Given the description of an element on the screen output the (x, y) to click on. 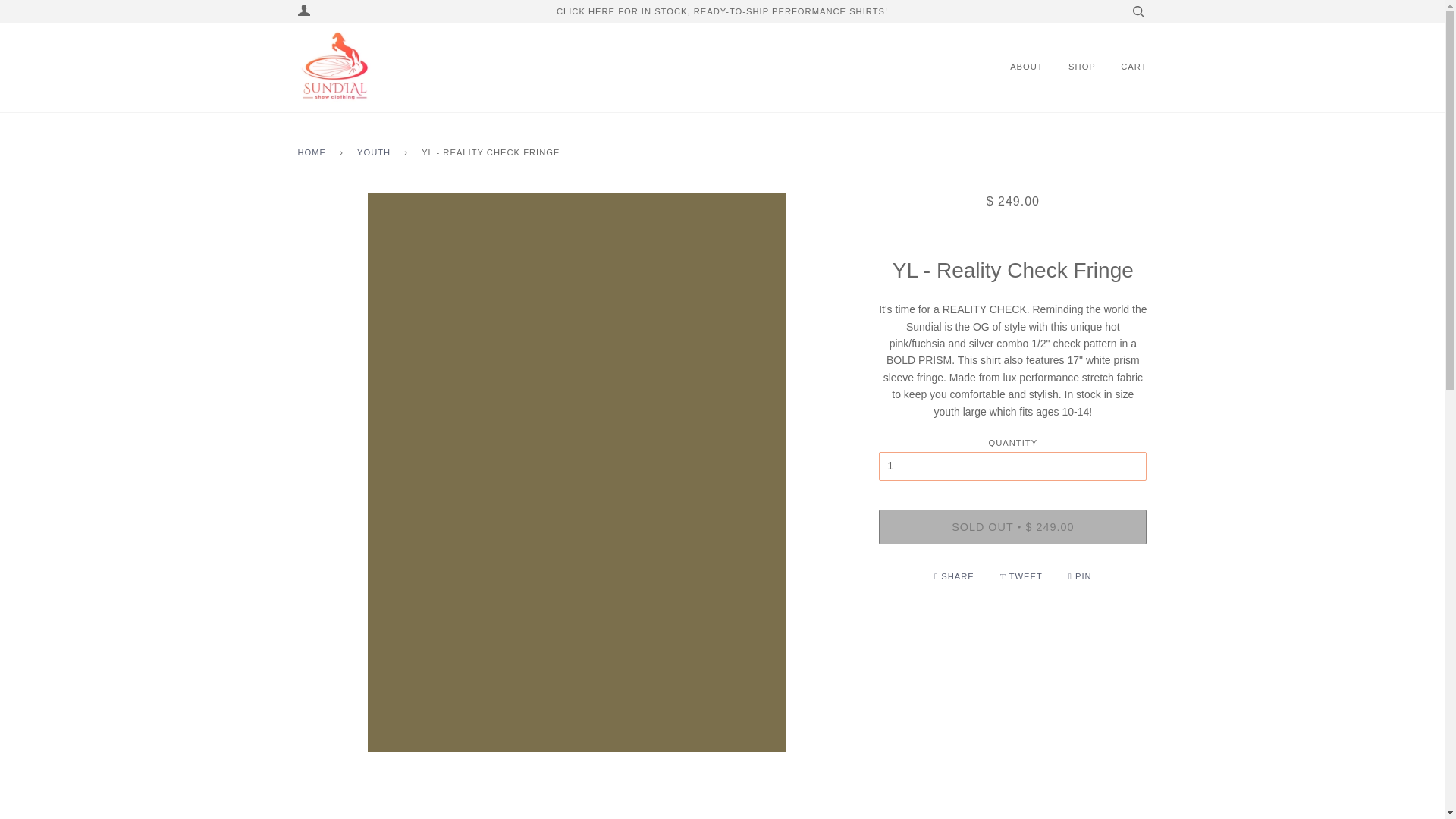
1 (1013, 466)
CLICK HERE FOR IN STOCK, READY-TO-SHIP PERFORMANCE SHIRTS! (722, 10)
Back to the frontpage (314, 152)
